Given the description of an element on the screen output the (x, y) to click on. 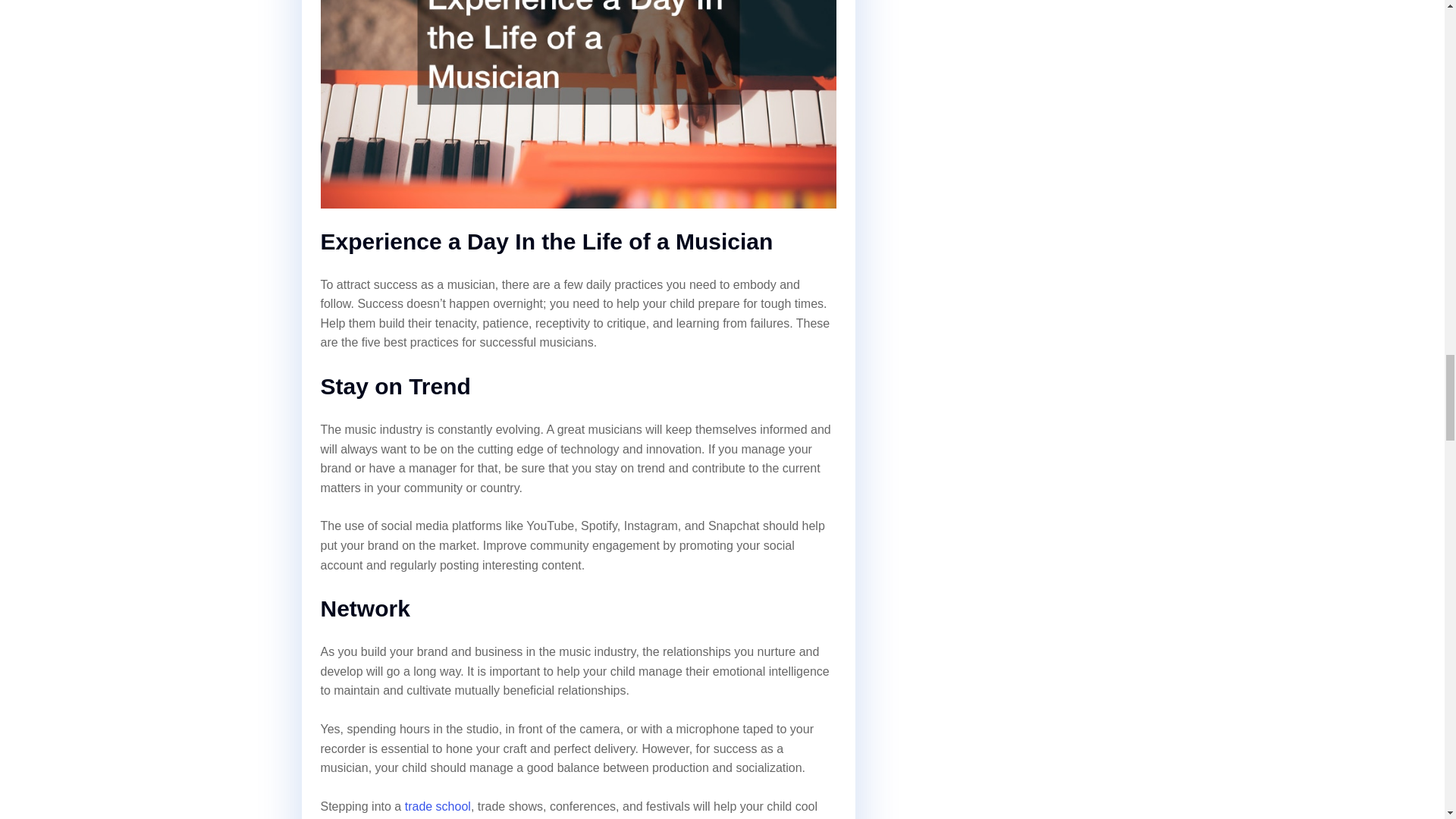
trade school (437, 806)
